Given the description of an element on the screen output the (x, y) to click on. 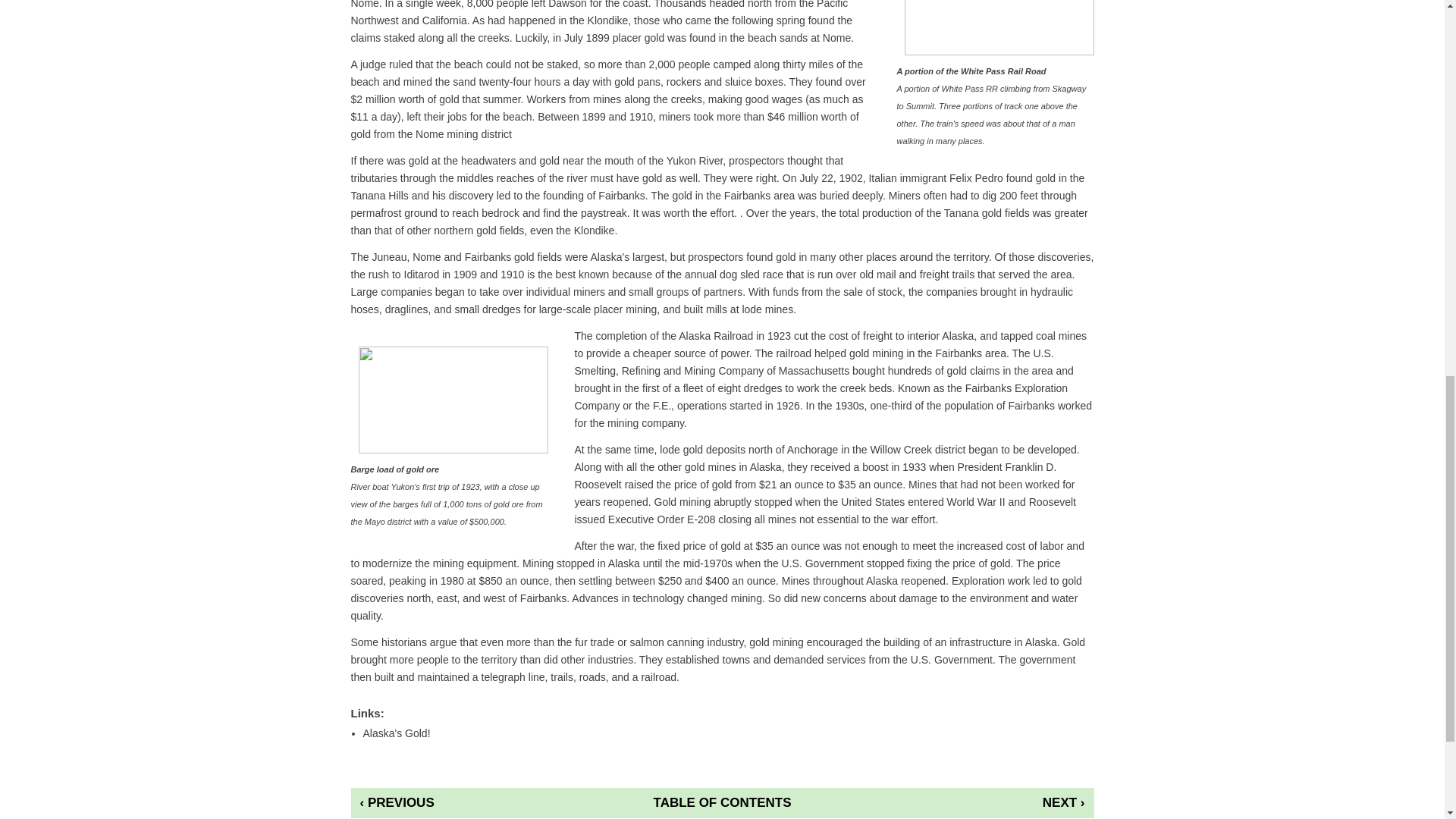
Go to next page (1001, 802)
Go to parent page (721, 802)
Go to previous page (442, 802)
